Given the description of an element on the screen output the (x, y) to click on. 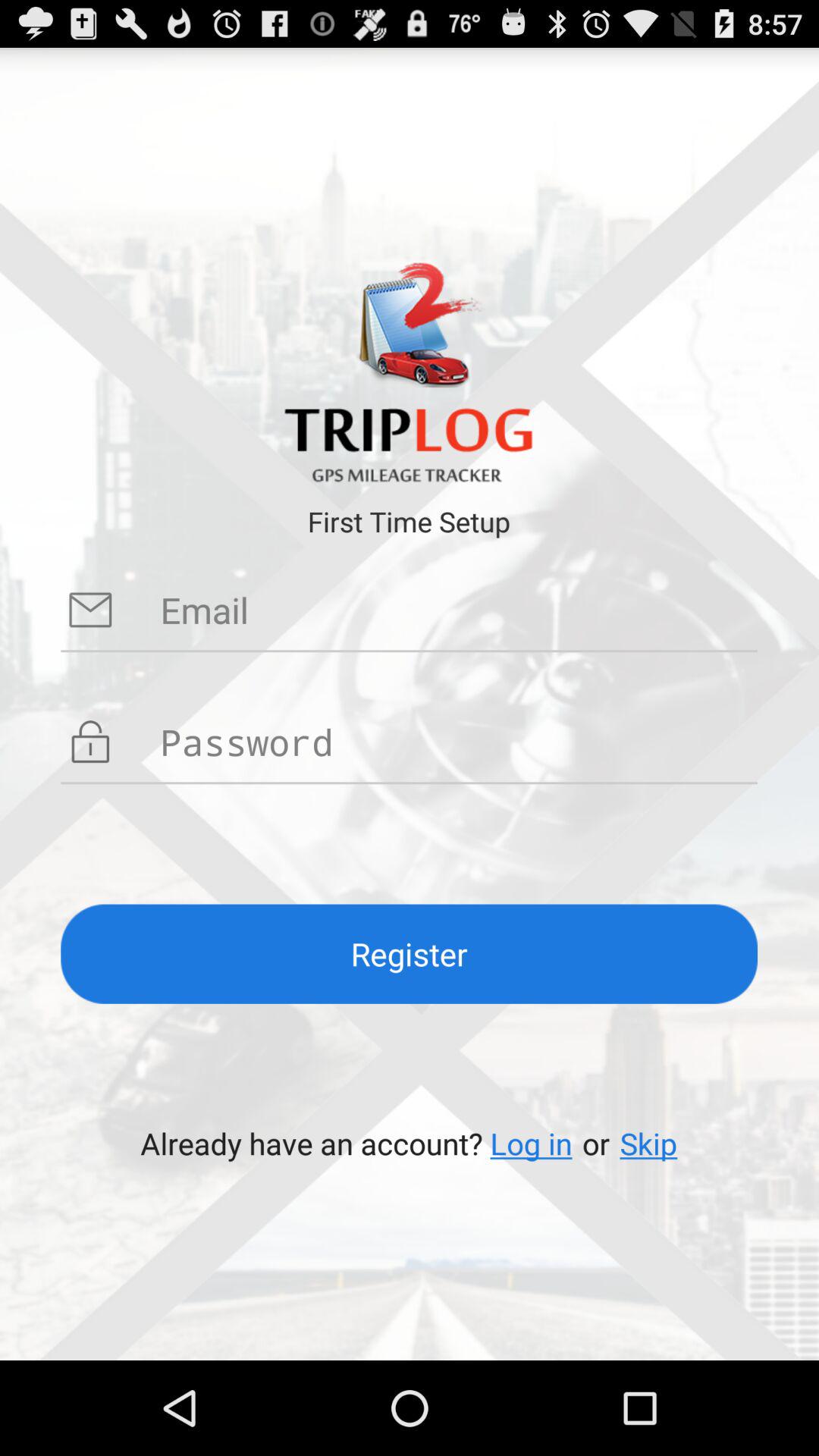
enter password (458, 741)
